Given the description of an element on the screen output the (x, y) to click on. 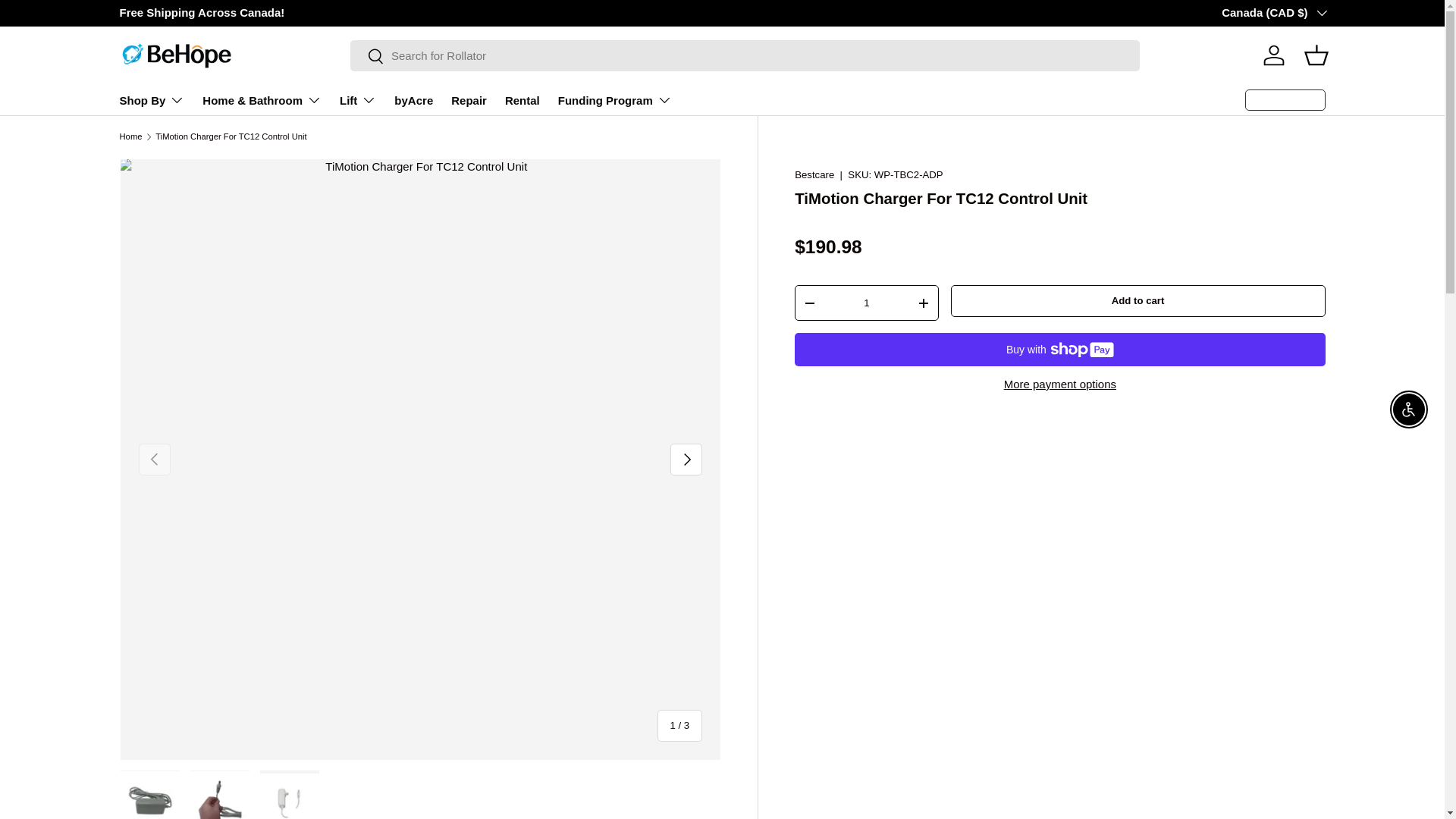
Search (367, 57)
byAcre (413, 100)
Shop By (151, 100)
Skip to content (68, 21)
Basket (1316, 55)
Log in (1273, 55)
Repair (468, 100)
Funding Program (614, 100)
1 (866, 303)
Rental (522, 100)
Lift (357, 100)
